Given the description of an element on the screen output the (x, y) to click on. 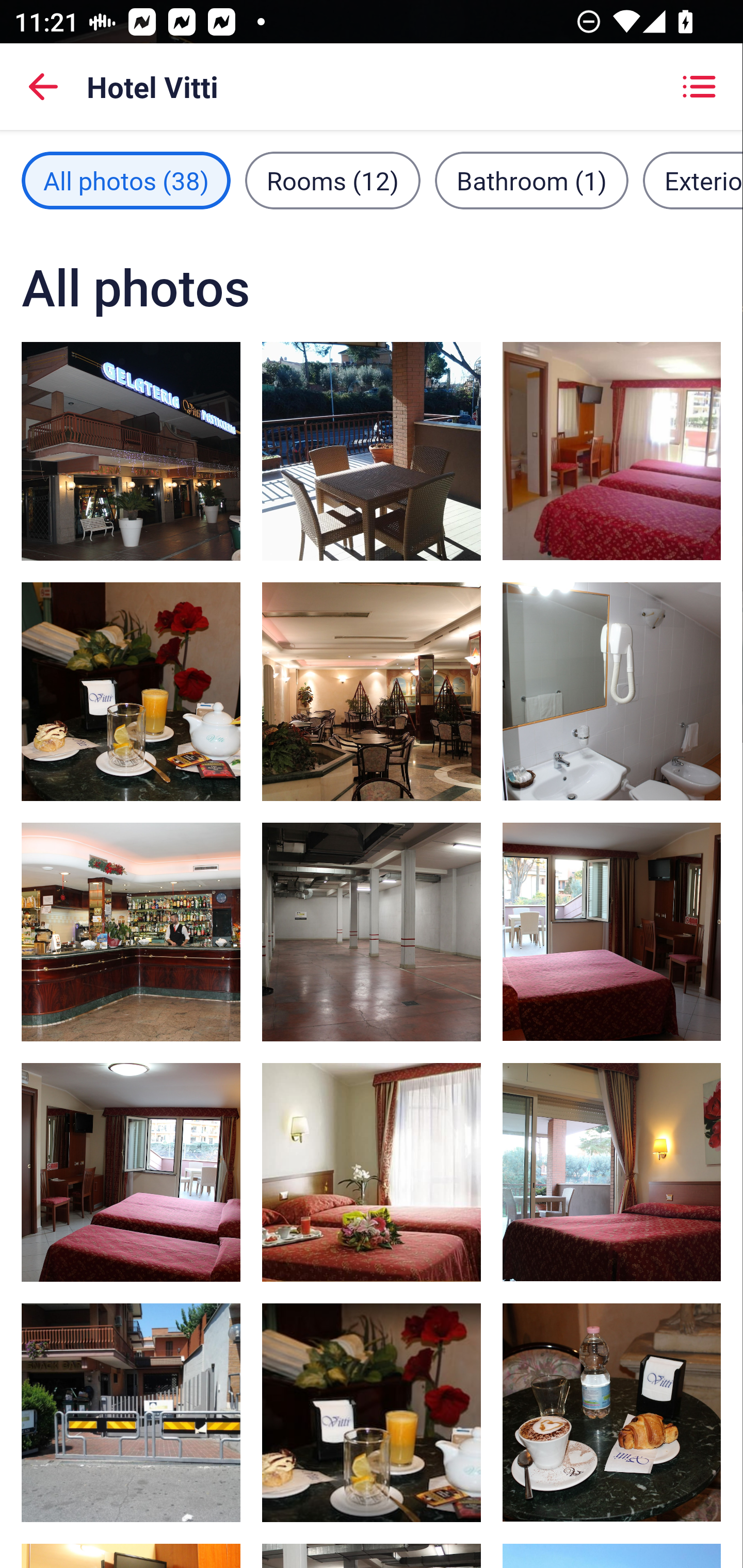
Back (43, 86)
Showing grid view (699, 86)
All photos filter, 38 images (125, 180)
Rooms filter, 12 images (332, 180)
Bathroom filter, 1 image (531, 180)
Front of property - evening/night, image (130, 451)
Balcony, image (371, 451)
Restaurant, image (130, 691)
Bar (on property), image (371, 691)
Free toiletries, hair dryer, bidet, towels, image (611, 691)
Bar (on property), image (130, 932)
Free self parking, image (371, 932)
Exterior, image (130, 1412)
Free continental breakfast, image (371, 1412)
Cafe, image (611, 1411)
